Given the description of an element on the screen output the (x, y) to click on. 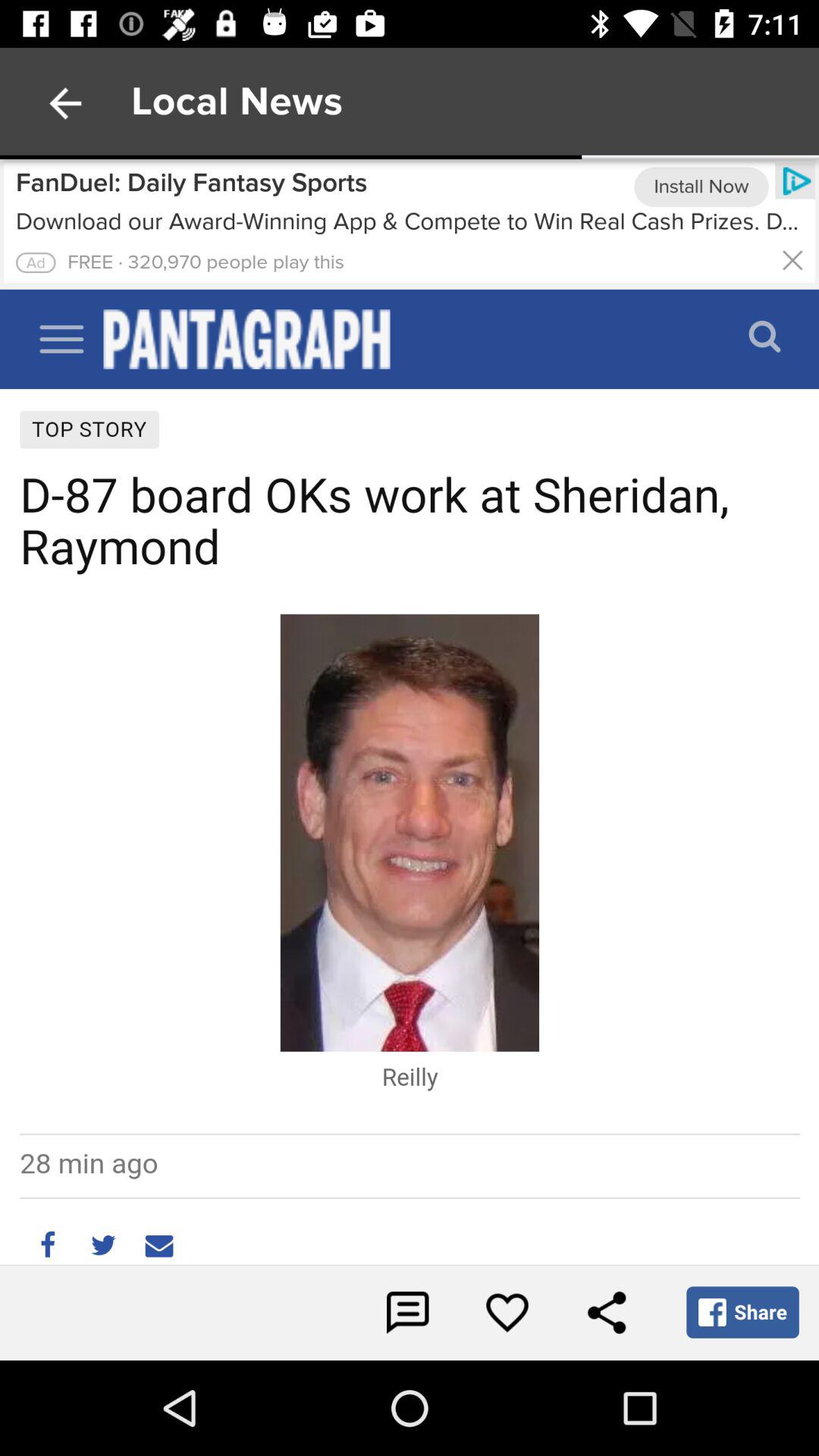
closes the advertisement (791, 259)
